Given the description of an element on the screen output the (x, y) to click on. 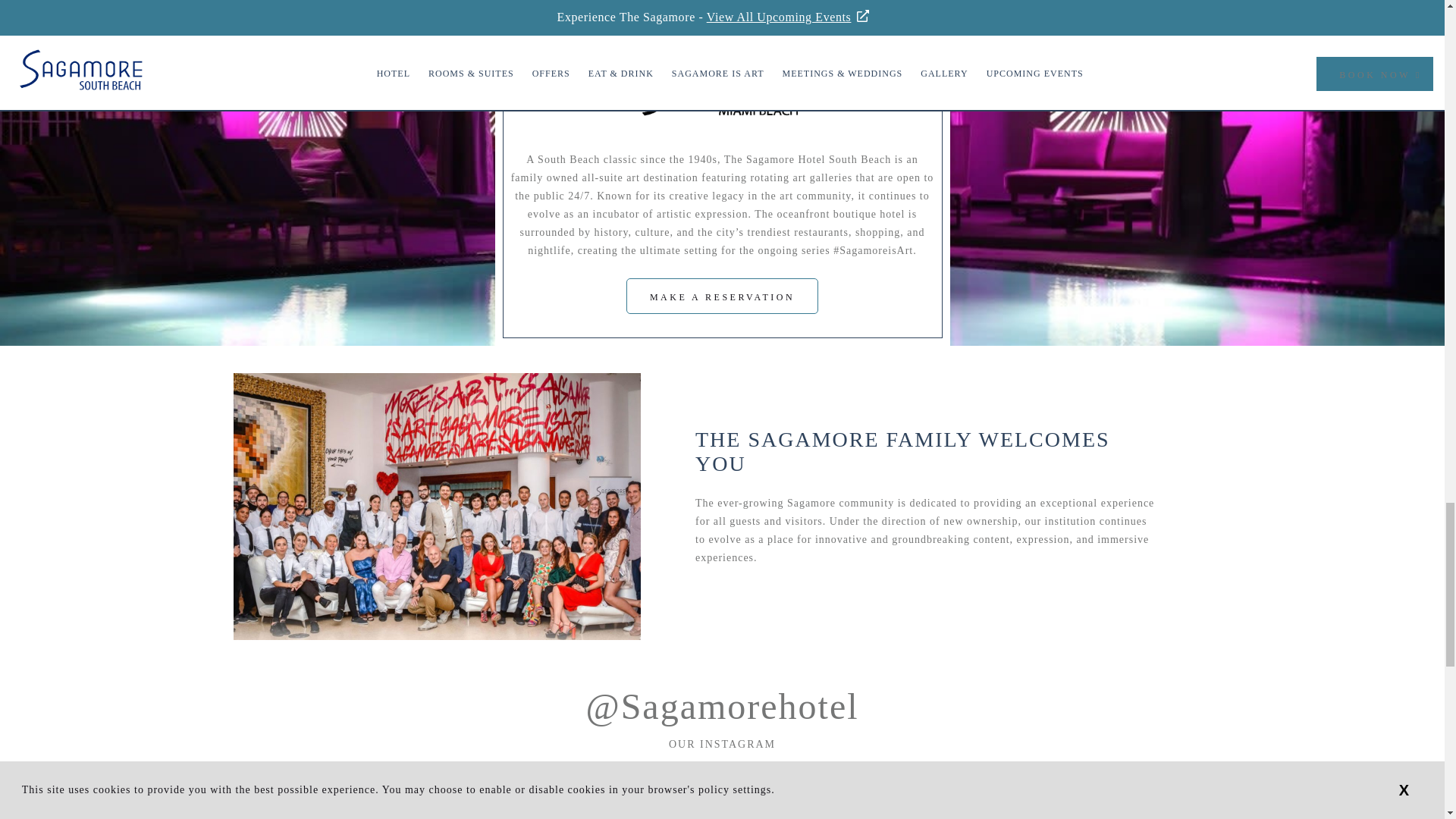
OUR INSTAGRAM (722, 744)
MAKE A RESERVATION (722, 295)
